Given the description of an element on the screen output the (x, y) to click on. 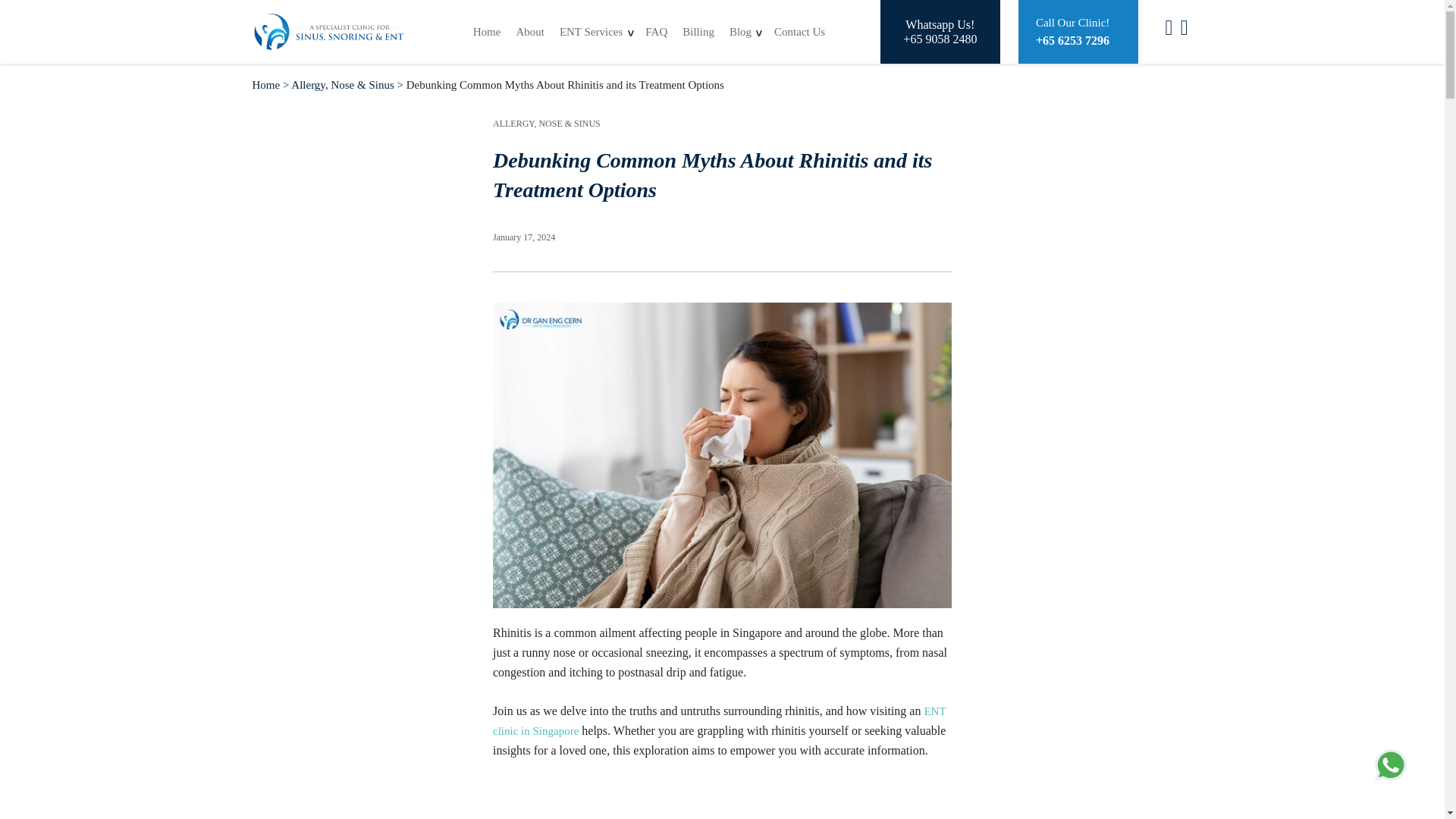
Go to Dr Gan Eng Cern. (265, 84)
